Given the description of an element on the screen output the (x, y) to click on. 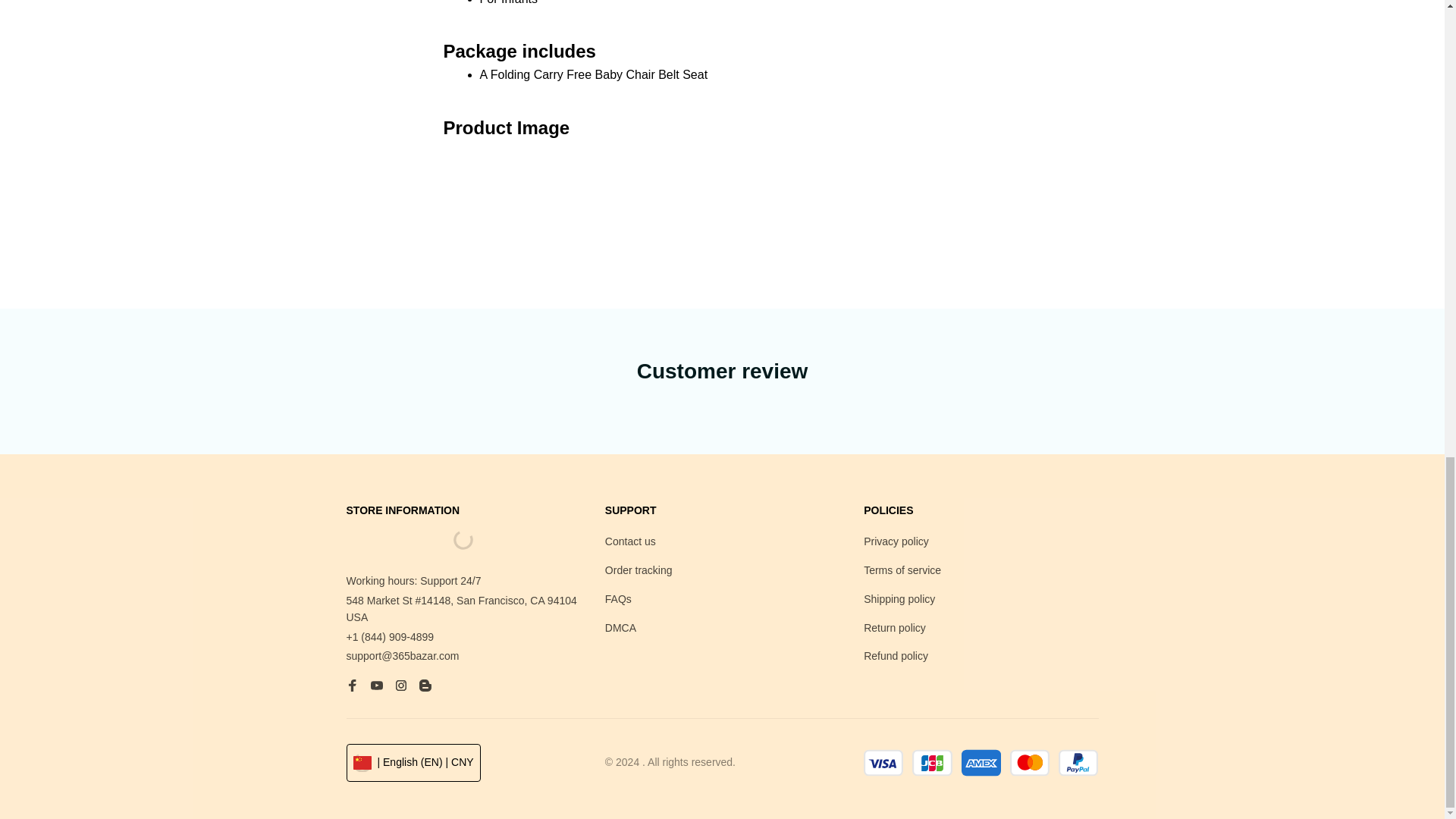
DMCA (620, 628)
Shipping policy (898, 599)
Order tracking (638, 570)
Refund policy (895, 656)
Return policy (894, 628)
Terms of service (901, 570)
Contact us (630, 541)
FAQs (618, 599)
Privacy policy (895, 541)
